Given the description of an element on the screen output the (x, y) to click on. 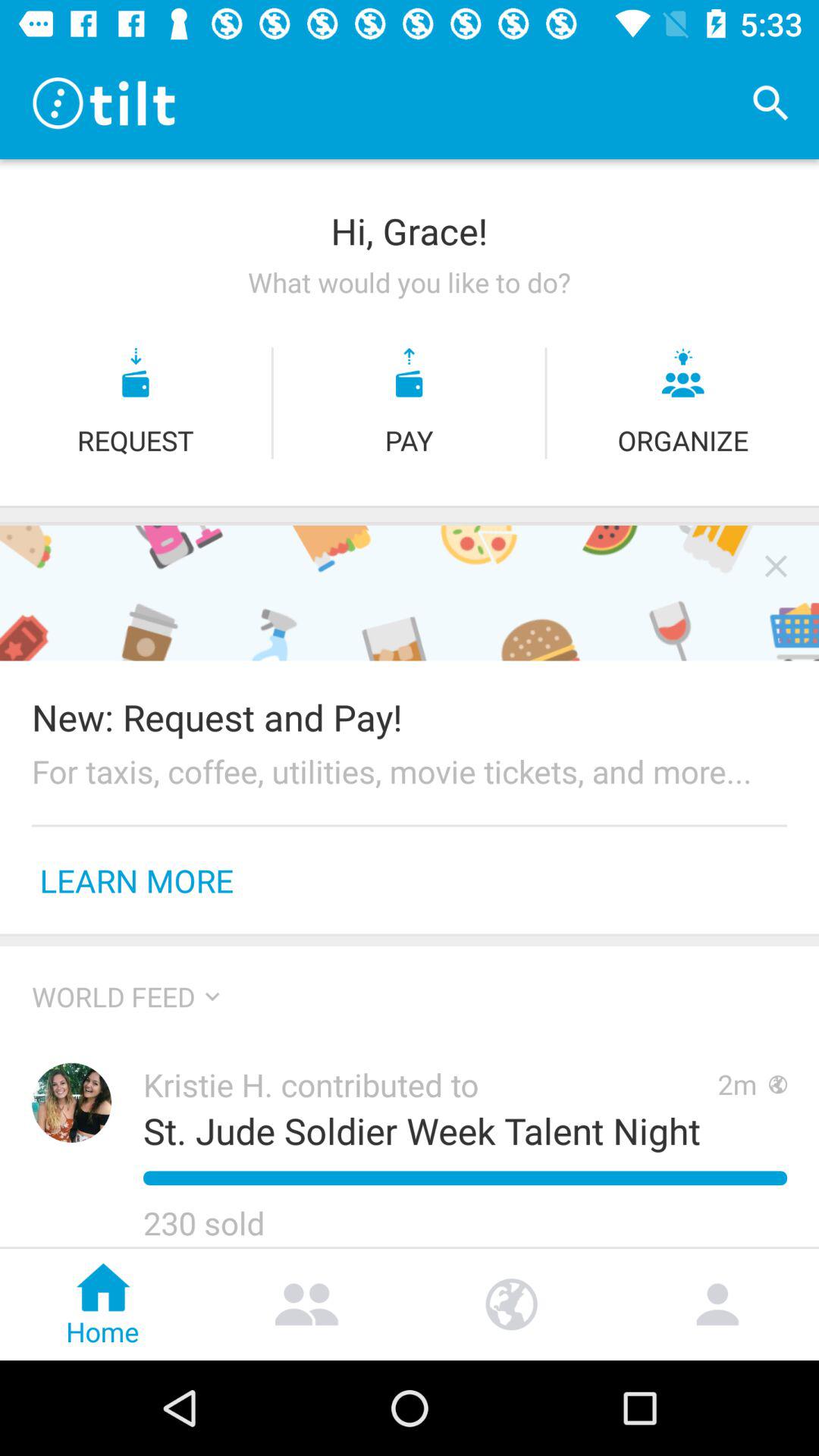
click the icon below the request (409, 506)
